Given the description of an element on the screen output the (x, y) to click on. 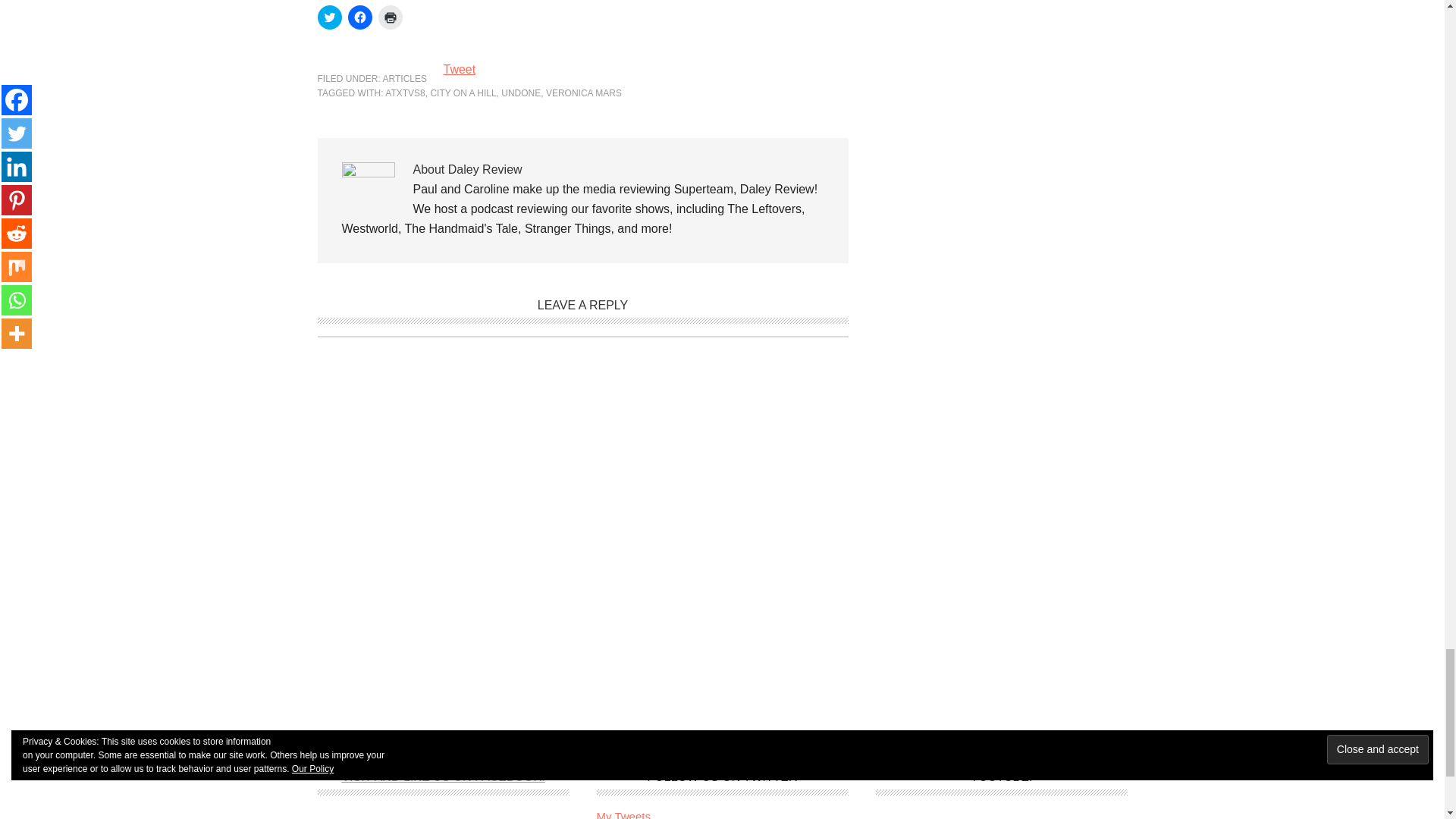
Click to share on Facebook (359, 16)
Click to share on Twitter (328, 16)
Tweet (459, 69)
Click to print (389, 16)
